Given the description of an element on the screen output the (x, y) to click on. 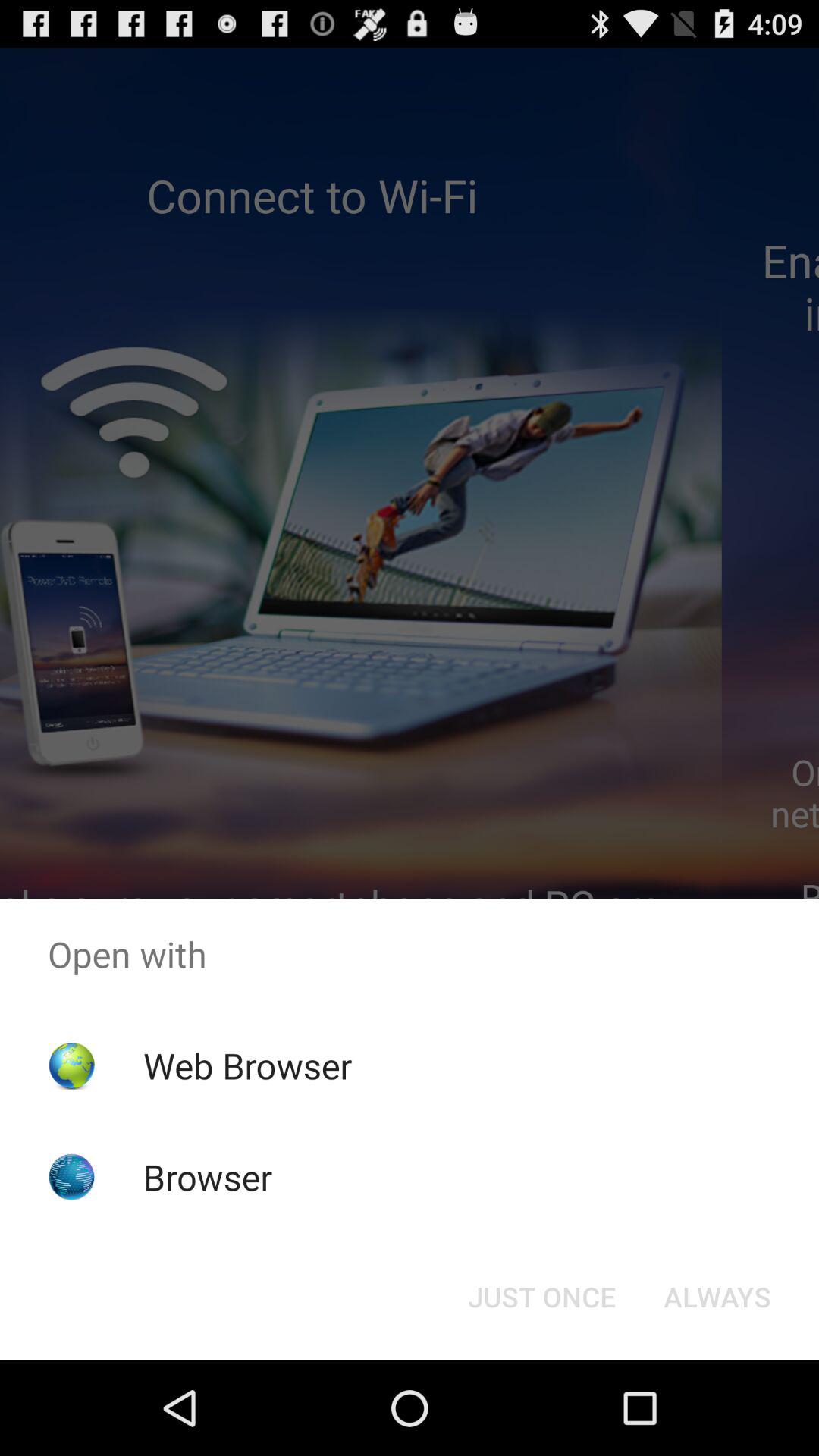
press the button to the right of the just once item (717, 1296)
